Given the description of an element on the screen output the (x, y) to click on. 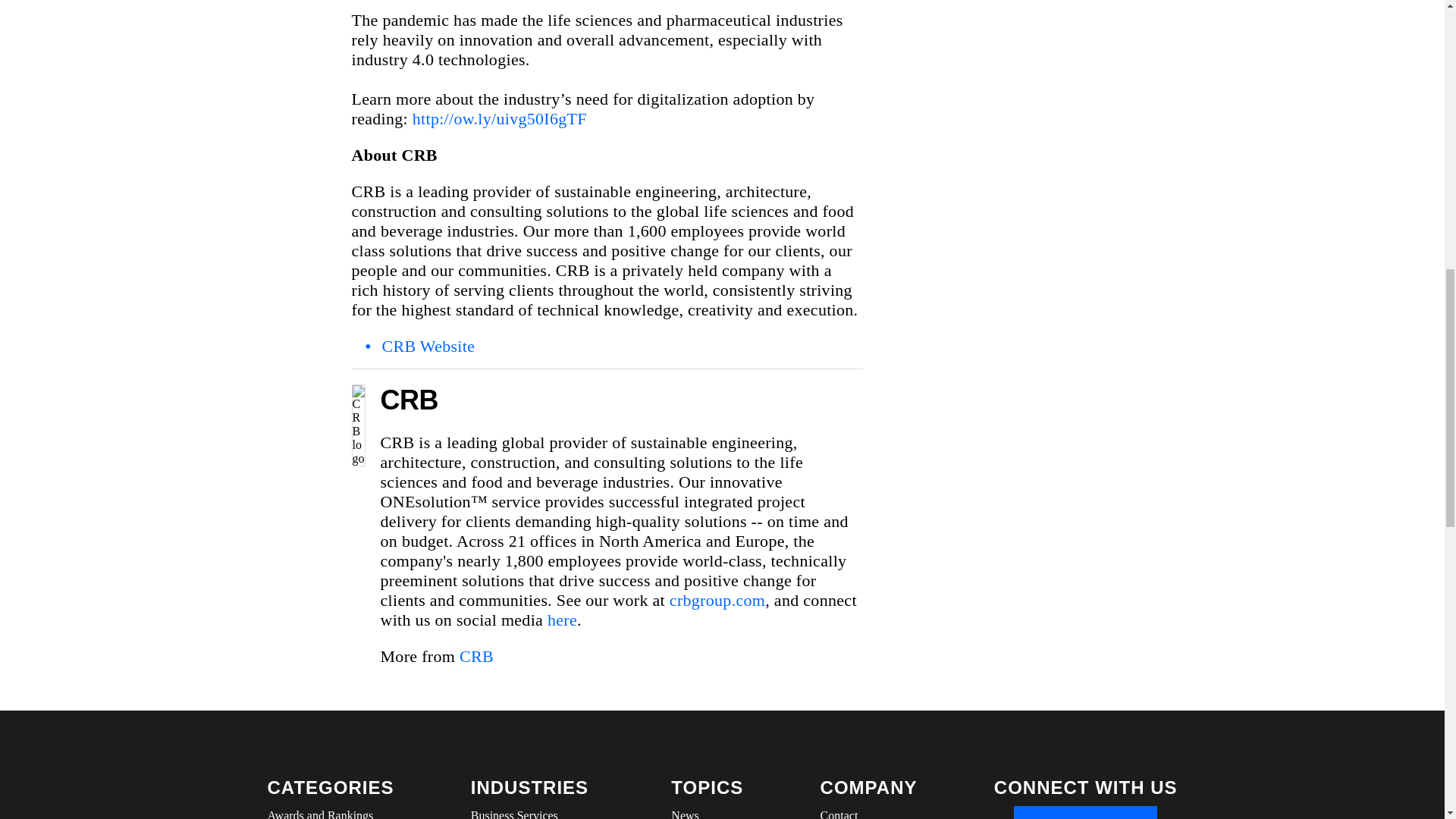
CATEGORIES (329, 787)
here (561, 619)
Awards and Rankings (329, 812)
CRB Website (428, 345)
crbgroup.com (717, 599)
CRB (476, 656)
